Given the description of an element on the screen output the (x, y) to click on. 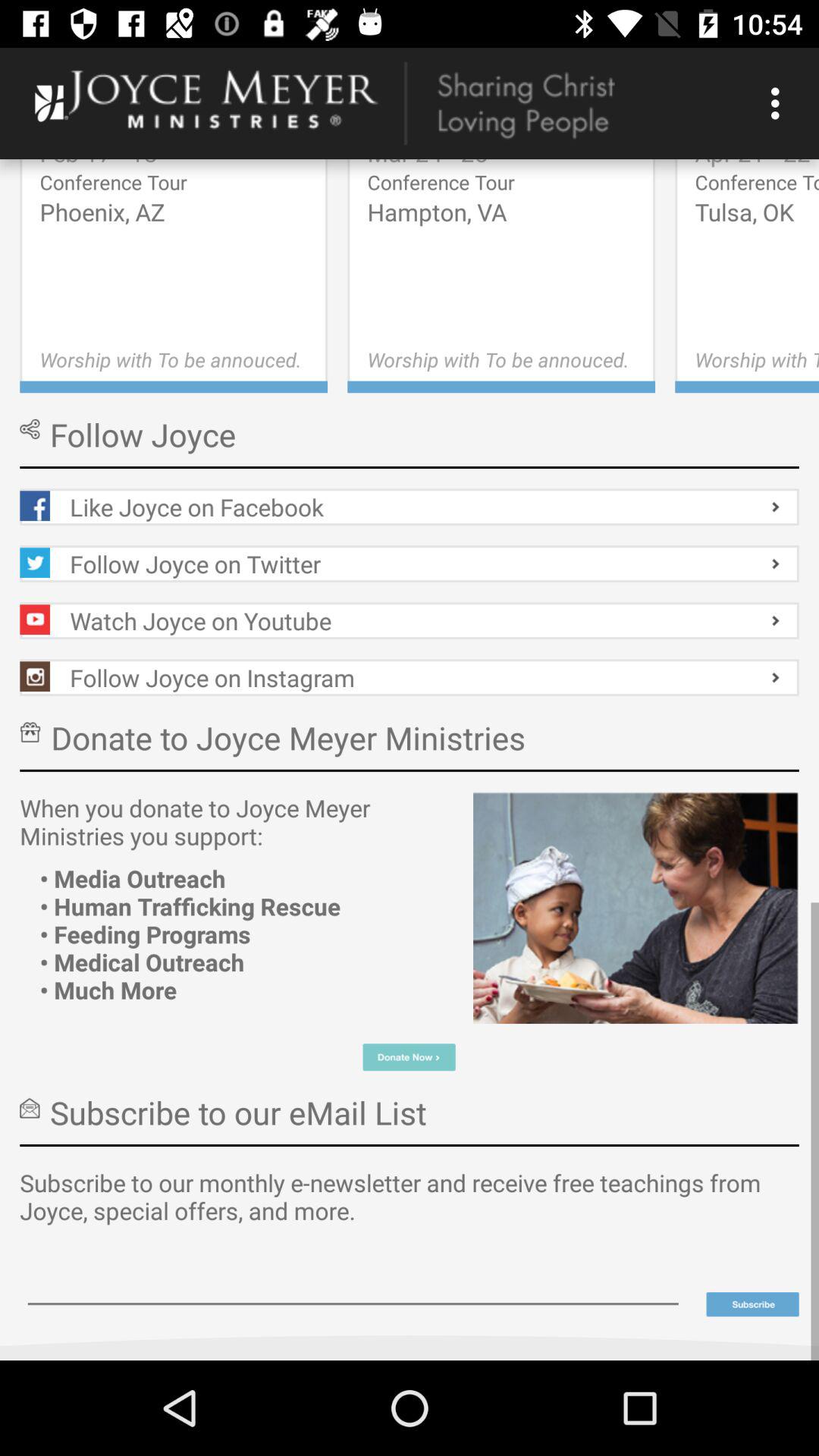
this will subscribe you to the newletter (752, 1304)
